Given the description of an element on the screen output the (x, y) to click on. 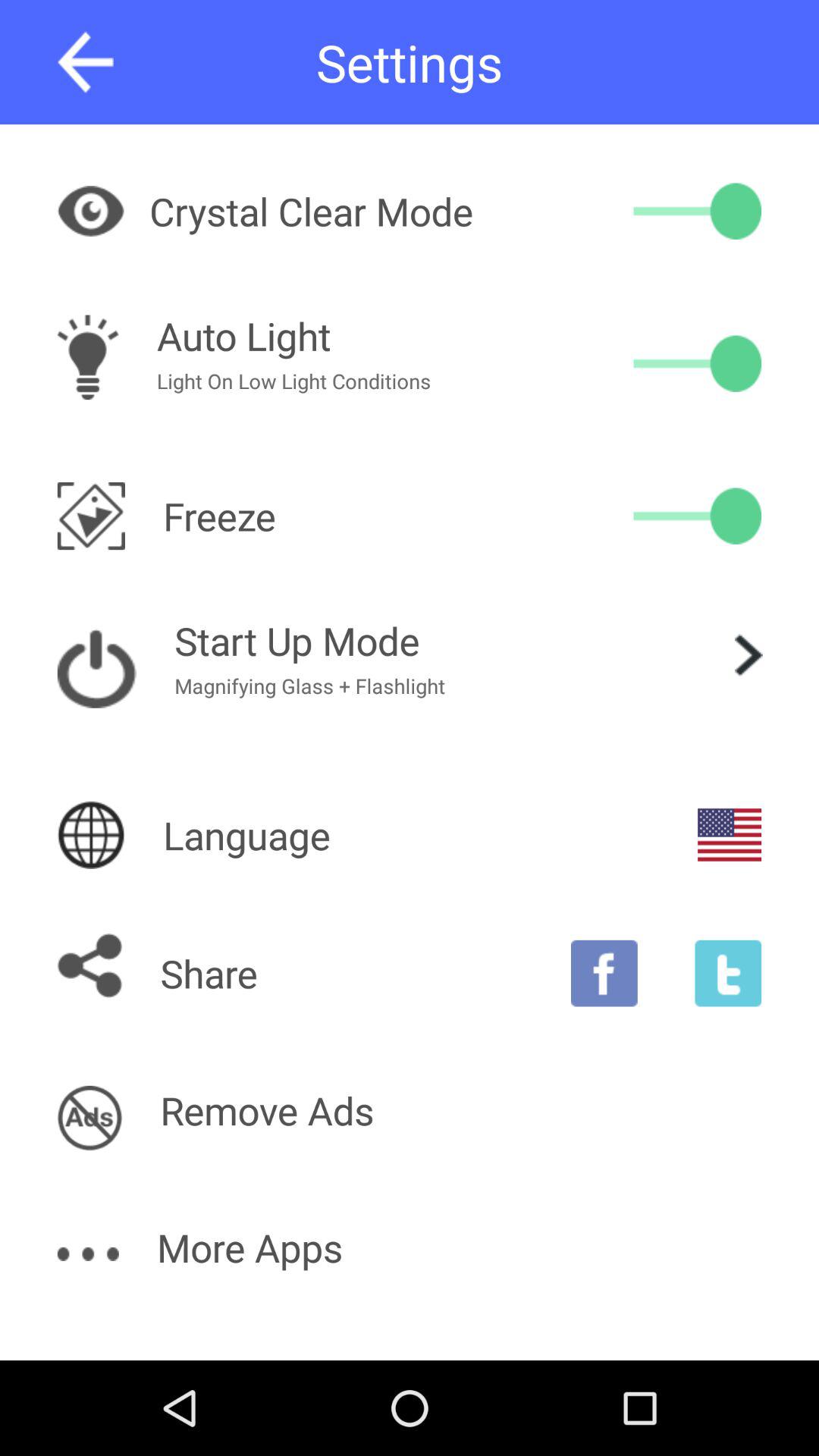
share on facebook (604, 973)
